Given the description of an element on the screen output the (x, y) to click on. 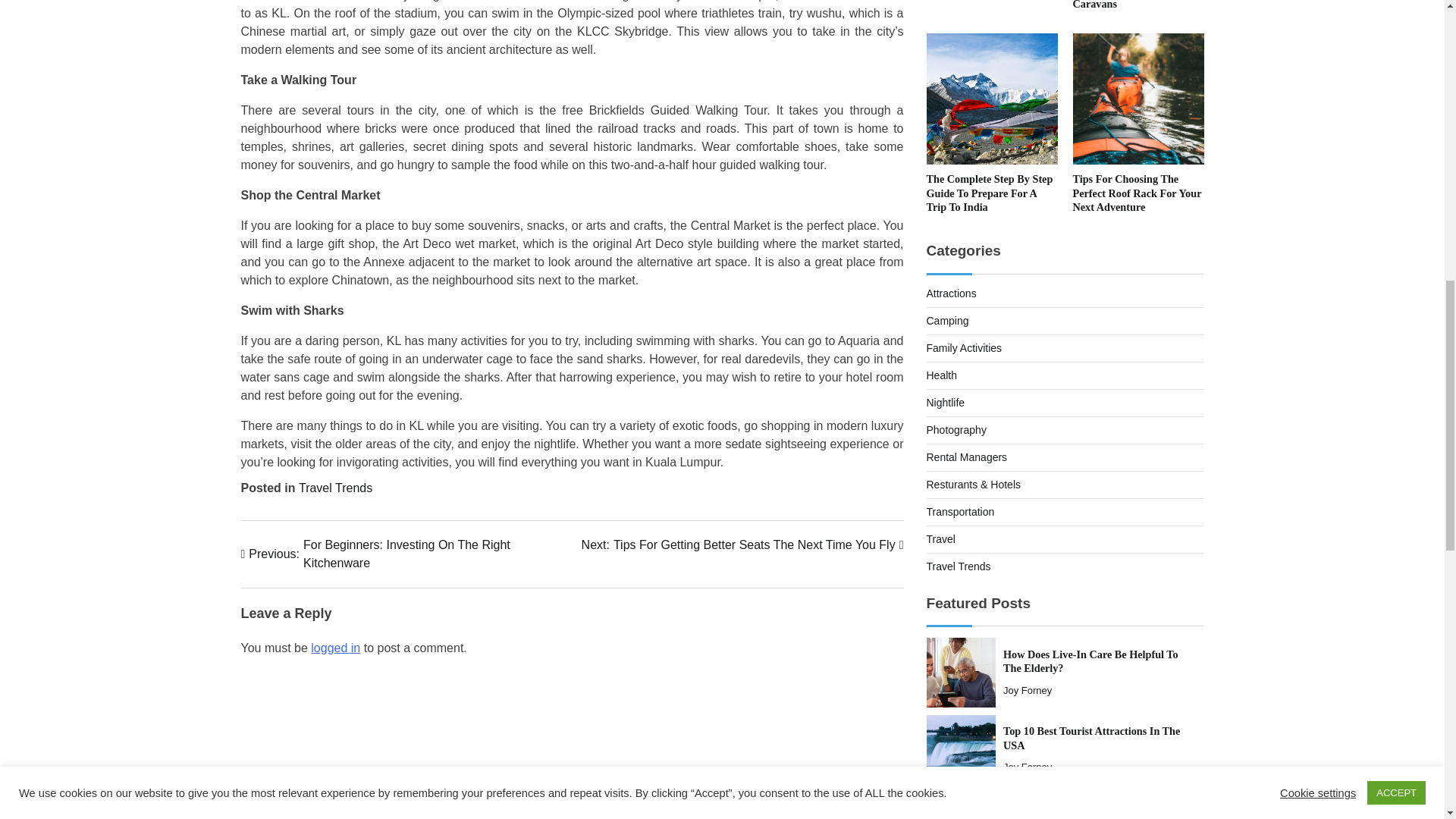
Travel Trends (958, 566)
Excellent Tips And Tricks To Maintain Your Static Caravans (1131, 4)
Transportation (960, 511)
Camping (947, 320)
Nightlife (945, 402)
logged in (335, 647)
Attractions (406, 554)
Travel (951, 293)
Joy Forney (940, 539)
Photography (1027, 690)
How Does Live-In Care Be Helpful To The Elderly? (956, 429)
Health (1090, 661)
Rental Managers (941, 375)
